Given the description of an element on the screen output the (x, y) to click on. 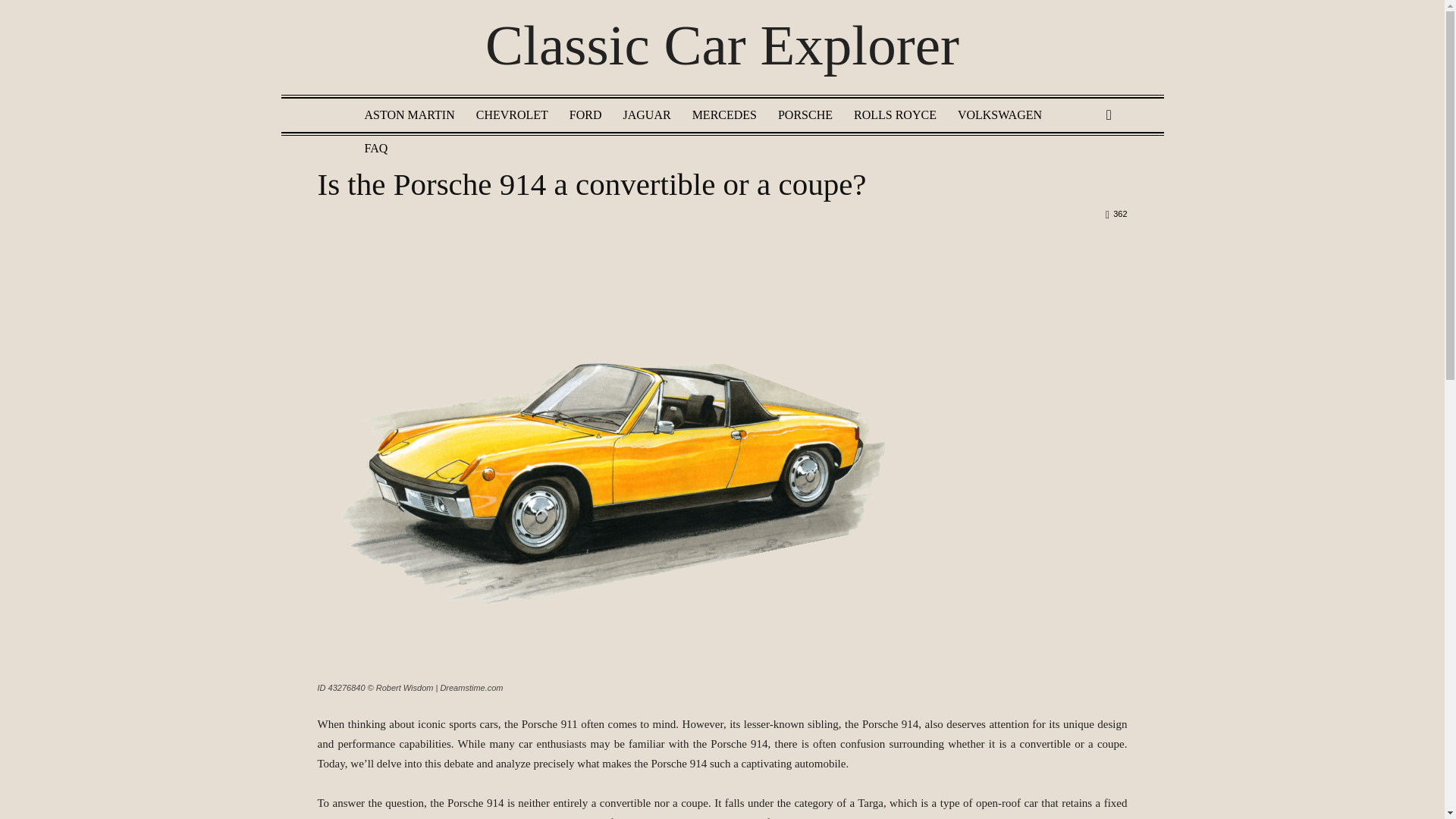
CHEVROLET (512, 114)
JAGUAR (646, 114)
FAQ (375, 148)
VOLKSWAGEN (999, 114)
PORSCHE (805, 114)
ROLLS ROYCE (895, 114)
ASTON MARTIN (408, 114)
Classic Car Explorer (721, 50)
Search (1085, 174)
